Given the description of an element on the screen output the (x, y) to click on. 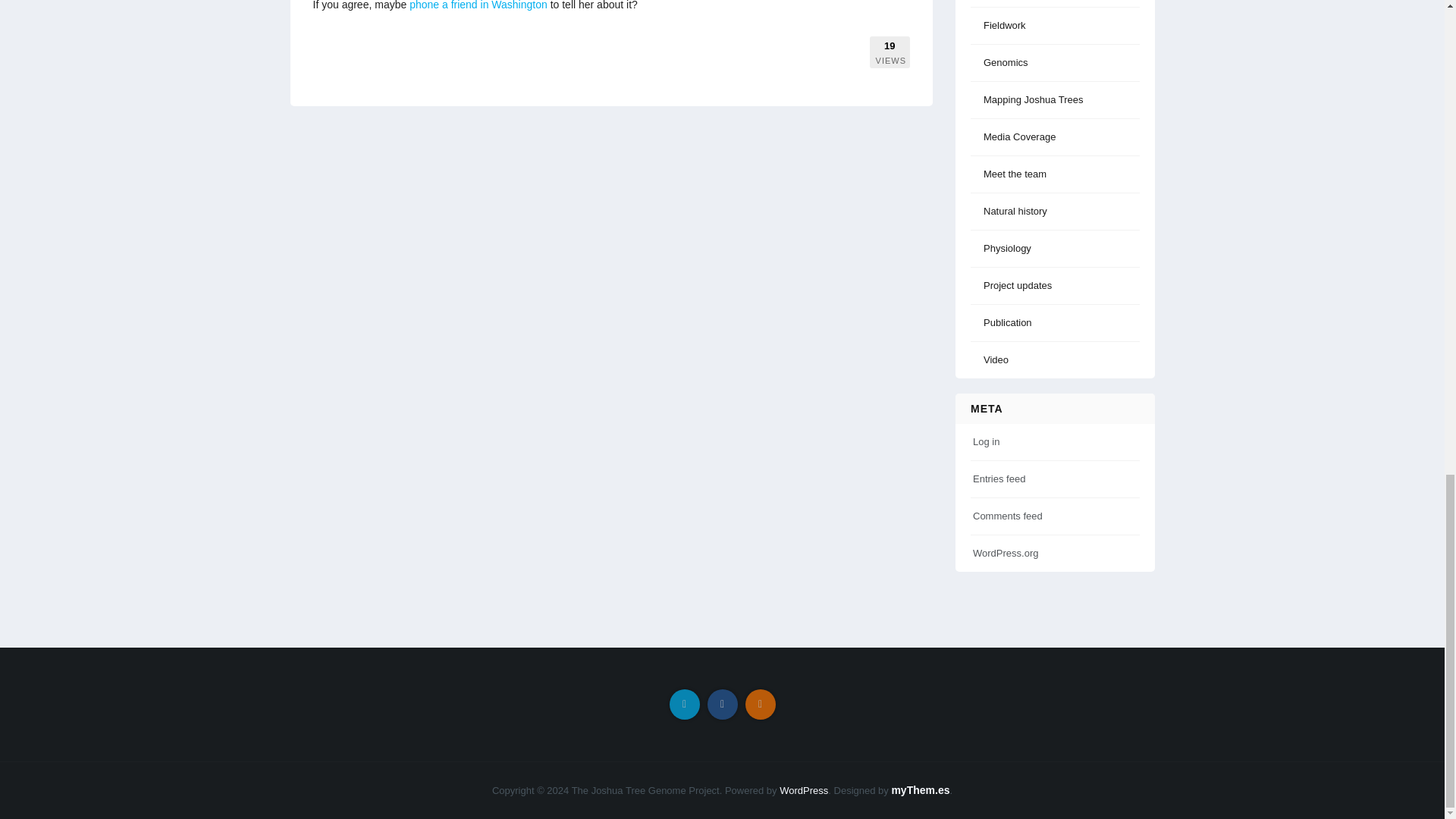
Fieldwork (999, 25)
Physiology (1001, 247)
Mapping Joshua Trees (1027, 99)
Media Coverage (1013, 136)
Natural history (1009, 211)
phone a friend in Washington (478, 5)
Genomics (999, 61)
Meet the team (1009, 173)
myThem.es (920, 789)
